Given the description of an element on the screen output the (x, y) to click on. 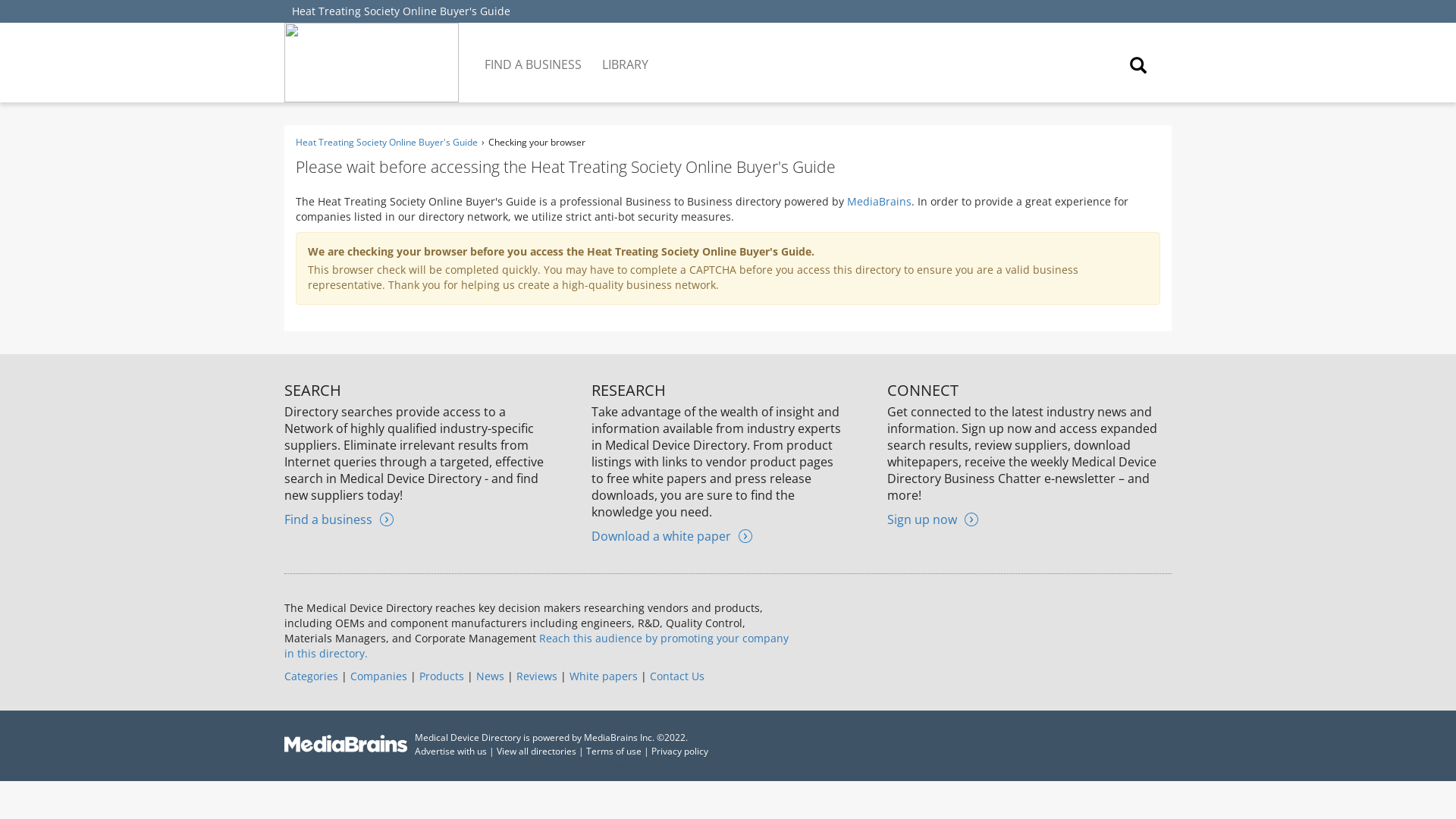
Advertise with us (450, 750)
LIBRARY (626, 52)
Contact Us (676, 676)
View all directories (536, 750)
Privacy policy (678, 750)
MediaBrains (879, 201)
Reviews (536, 676)
Find a business (338, 519)
Terms of use (614, 750)
White papers (603, 676)
Sign up now (932, 519)
Heat Treating Society Online Buyer's Guide (386, 141)
FIND A BUSINESS (534, 52)
News (489, 676)
